Given the description of an element on the screen output the (x, y) to click on. 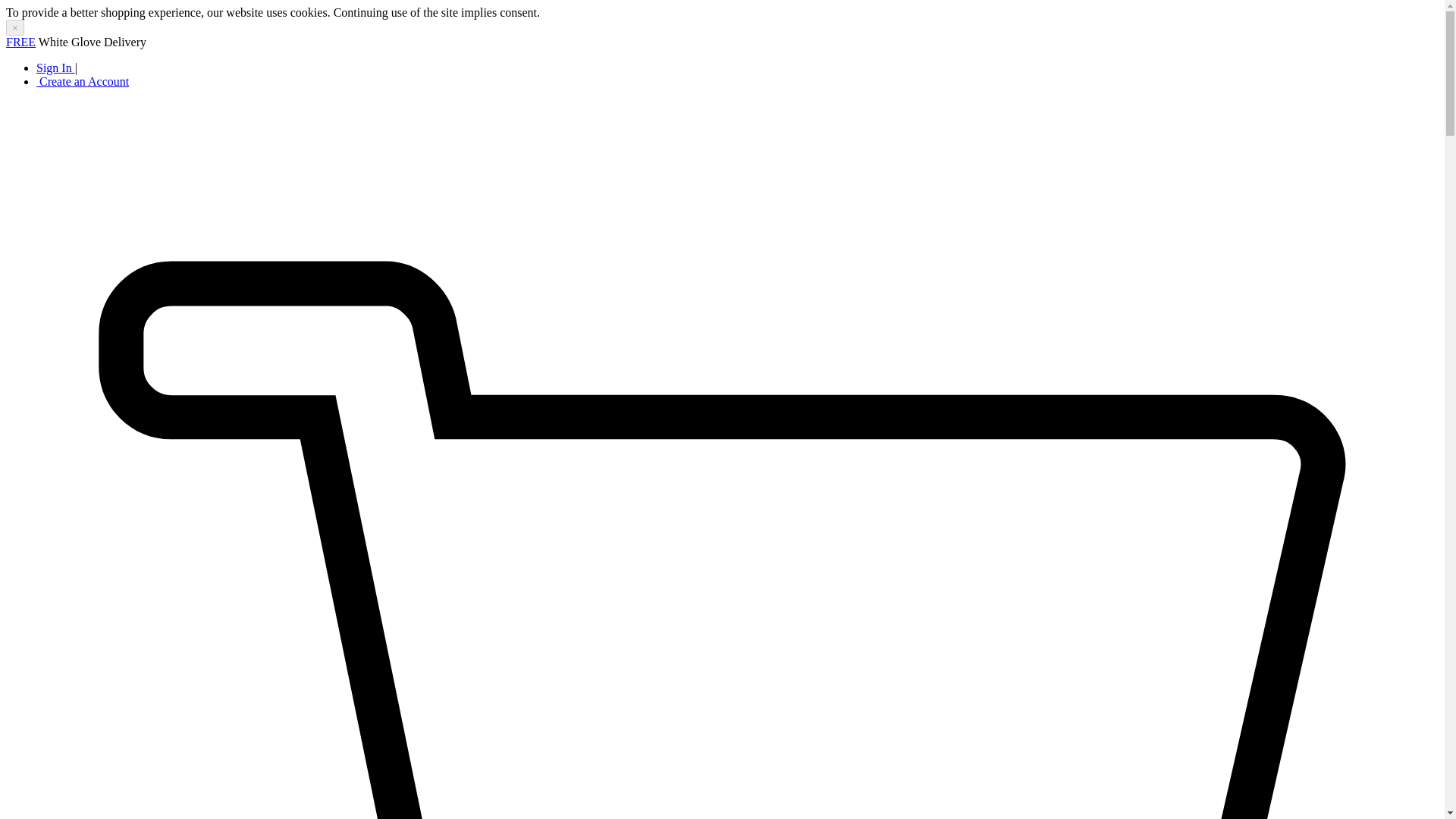
FREE (19, 42)
Sign In (55, 67)
 Create an Account (82, 81)
